Given the description of an element on the screen output the (x, y) to click on. 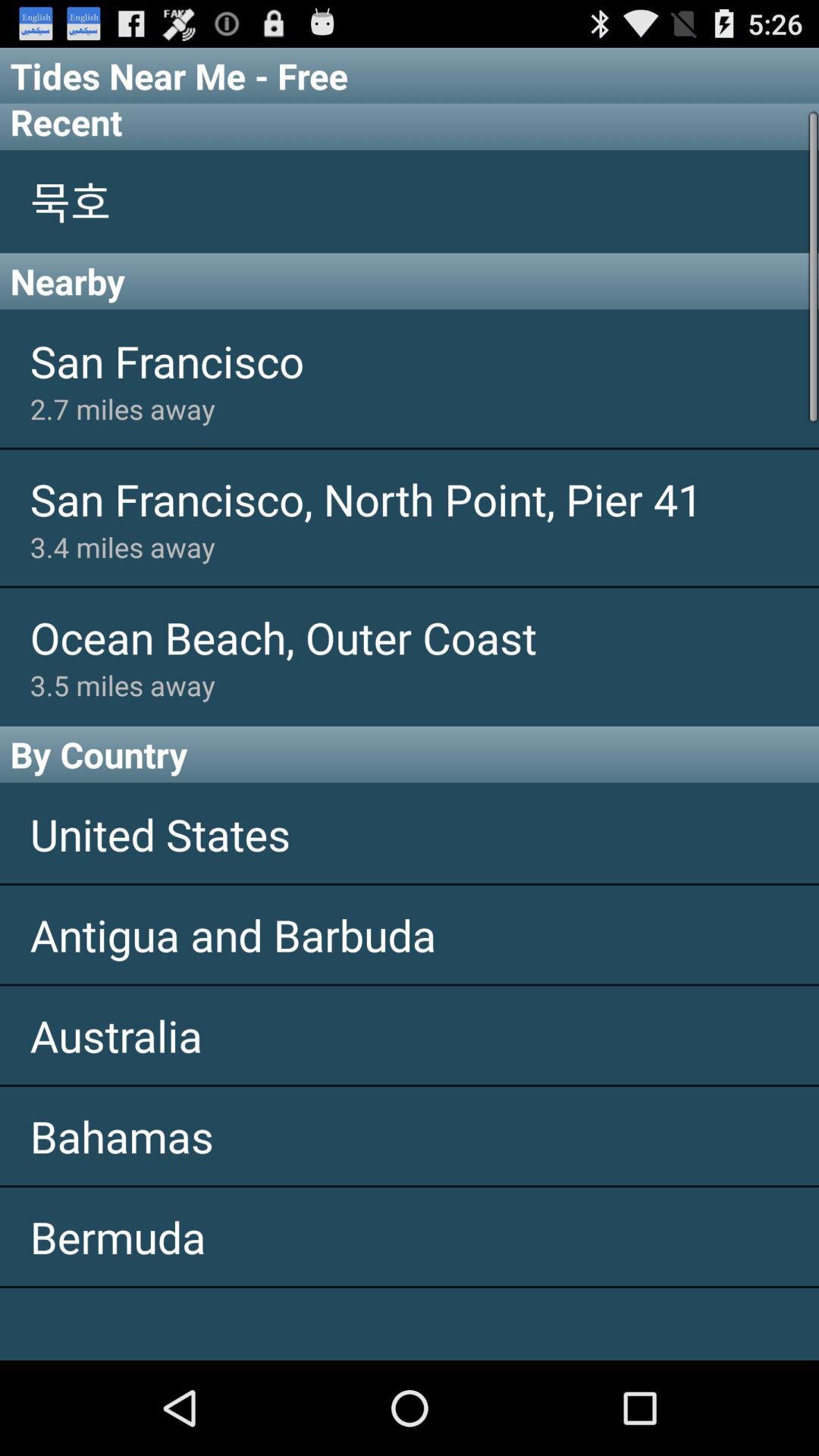
turn off the icon below the tides near me (409, 126)
